Given the description of an element on the screen output the (x, y) to click on. 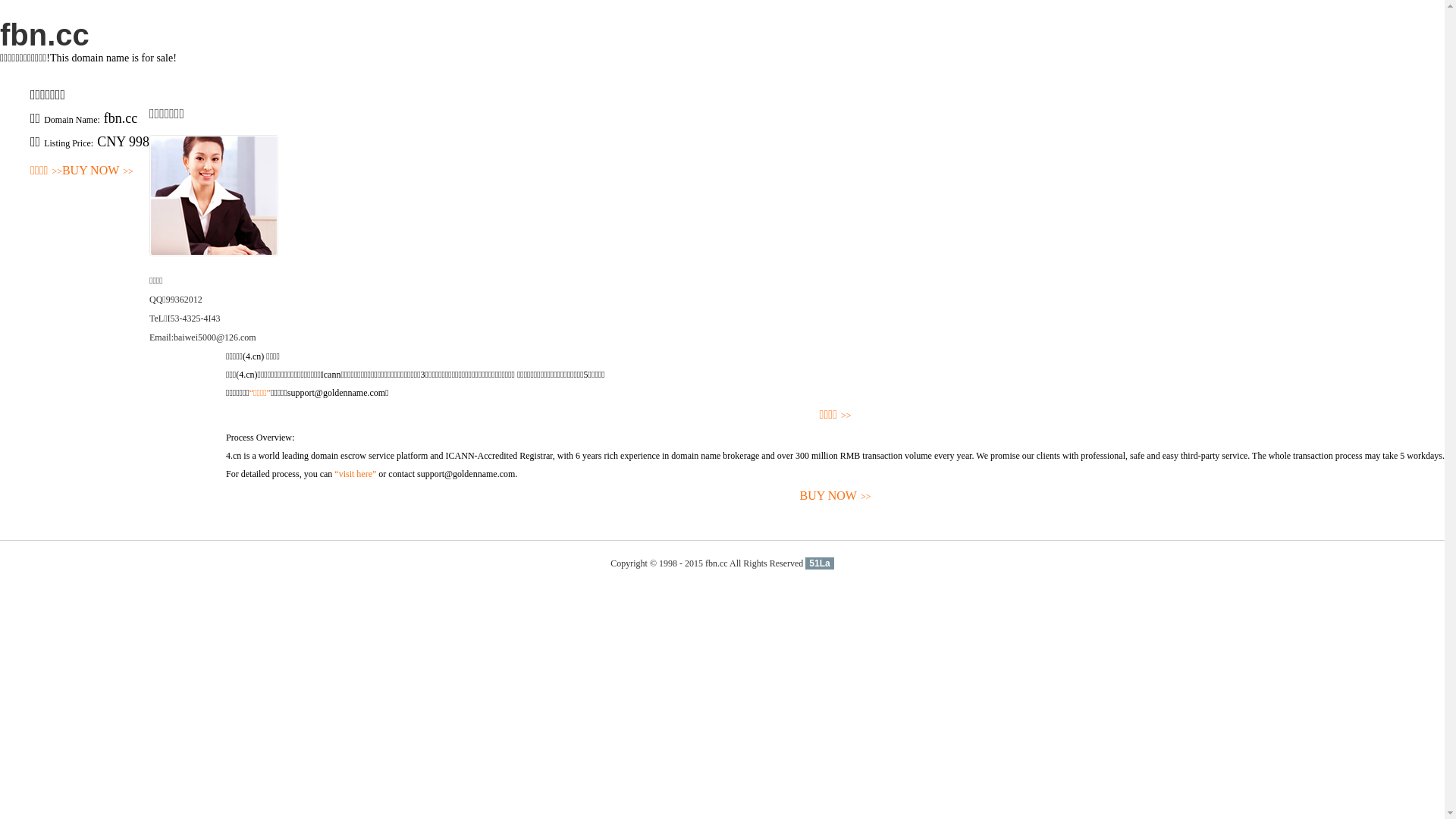
BUY NOW>> Element type: text (834, 496)
51La Element type: text (819, 563)
BUY NOW>> Element type: text (97, 170)
